Given the description of an element on the screen output the (x, y) to click on. 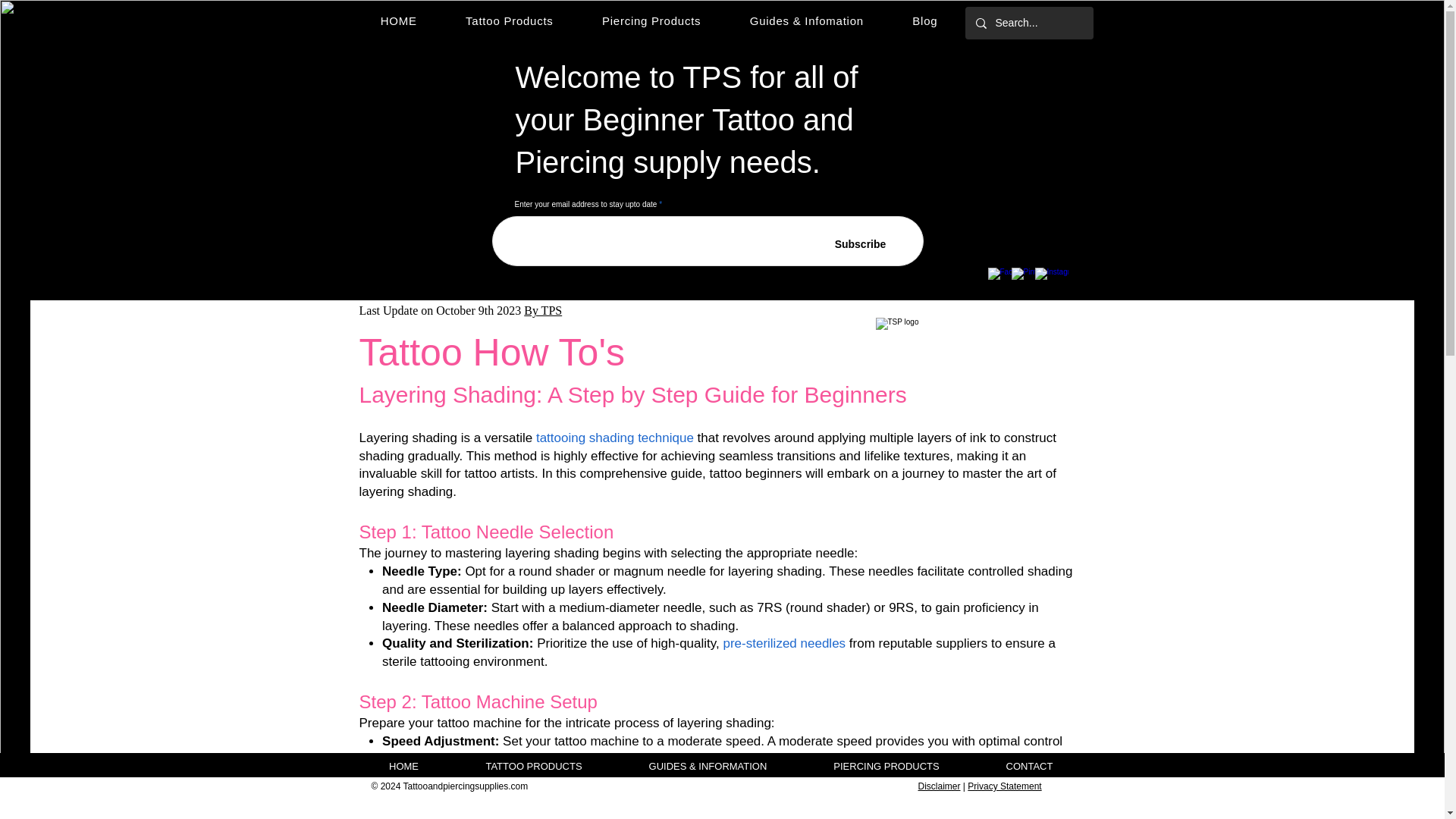
pre-sterilized needles (784, 643)
Blog (924, 20)
HOME (403, 766)
PIERCING PRODUCTS (886, 766)
Subscribe (859, 243)
tattooing shading technique (614, 437)
By TPS (543, 309)
Privacy Statement (1004, 786)
TATTOO PRODUCTS (532, 766)
CONTACT (1029, 766)
